Given the description of an element on the screen output the (x, y) to click on. 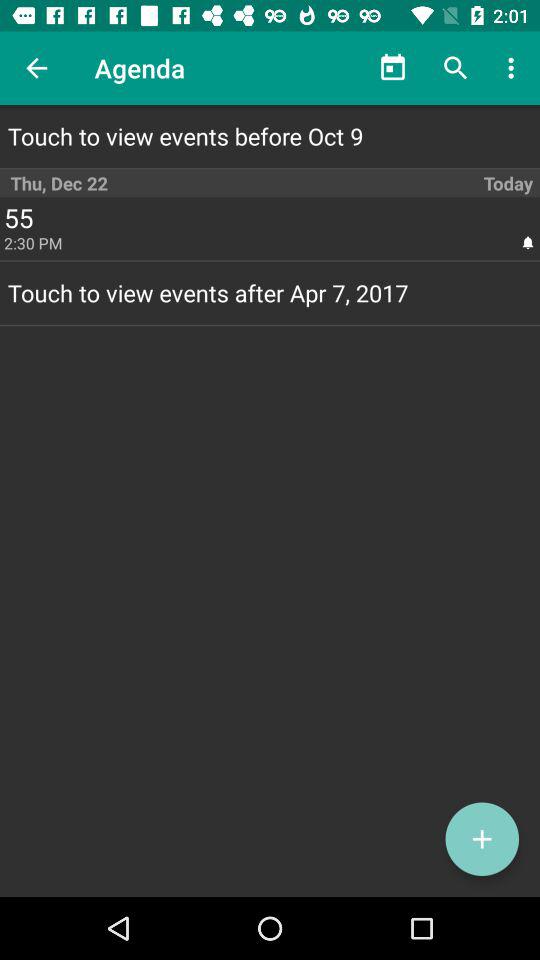
create new agenda (482, 839)
